Given the description of an element on the screen output the (x, y) to click on. 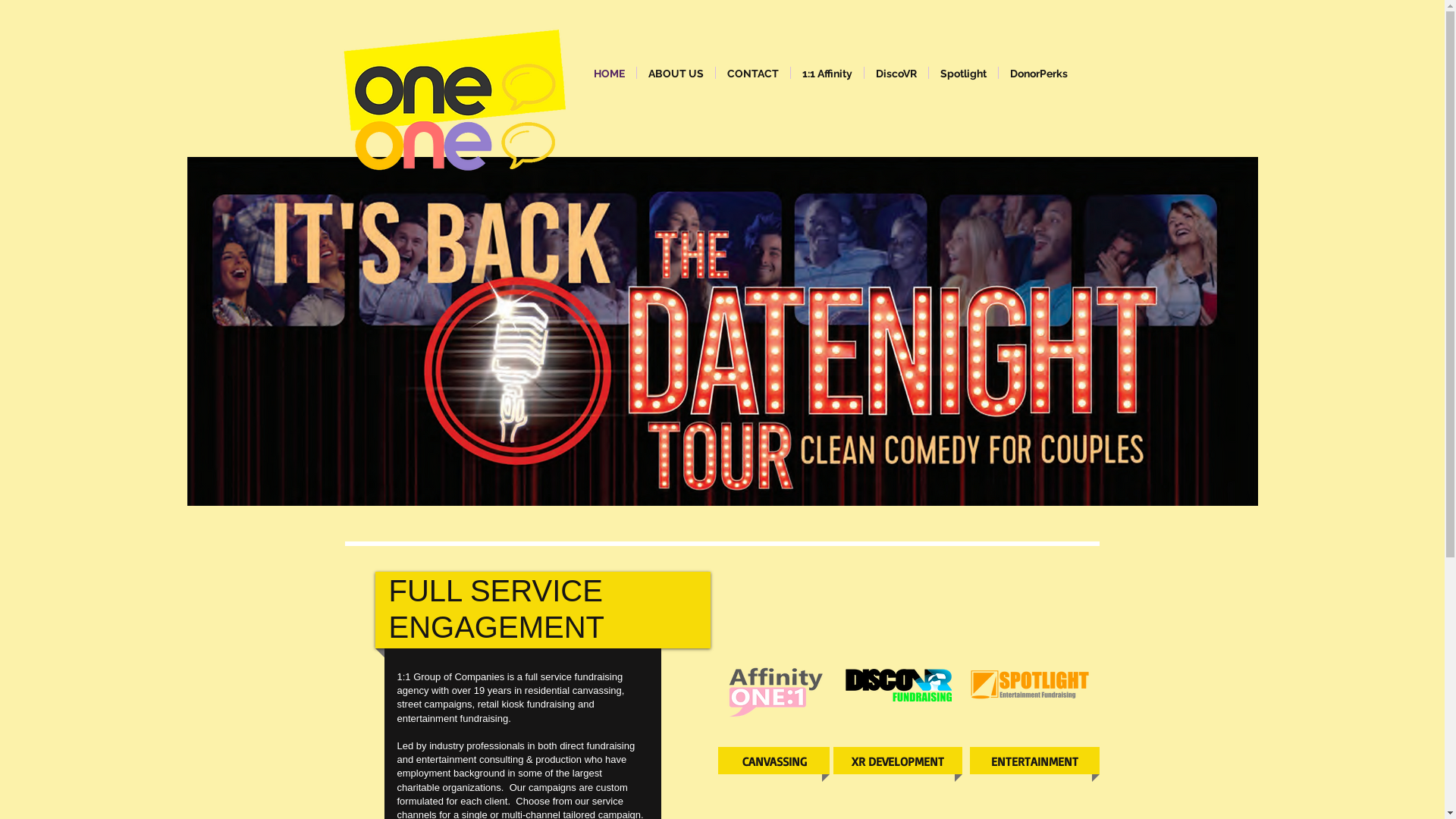
HAND1.png Element type: hover (773, 691)
XR DEVELOPMENT Element type: text (897, 761)
HOME Element type: text (609, 72)
1:1 Affinity Element type: text (826, 72)
DonorPerks Element type: text (1037, 72)
DiscoVR Element type: text (896, 72)
CANVASSING Element type: text (774, 761)
ABOUT US Element type: text (676, 72)
ENTERTAINMENT Element type: text (1033, 761)
Spotlight Element type: text (962, 72)
CONTACT Element type: text (752, 72)
